Given the description of an element on the screen output the (x, y) to click on. 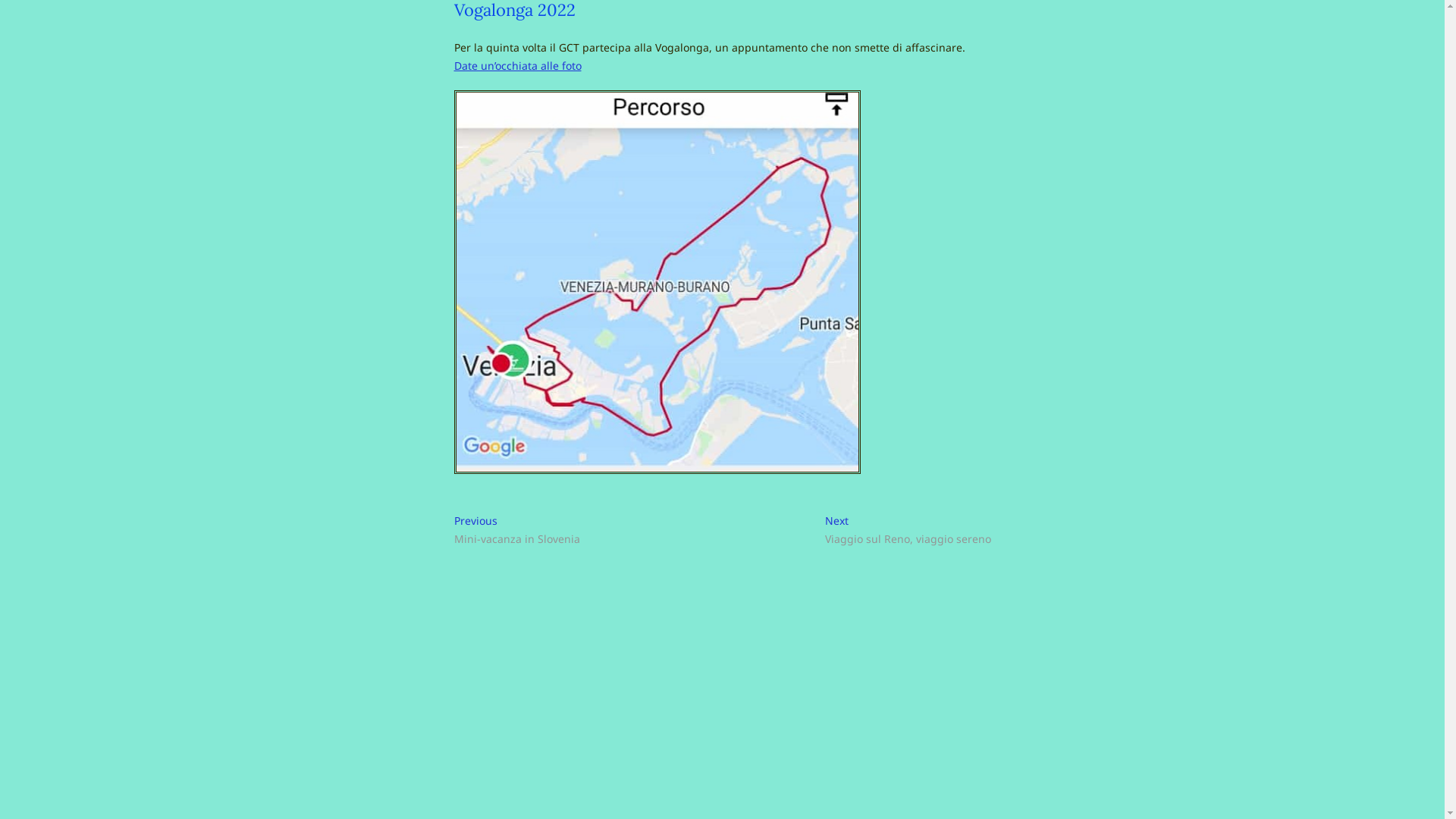
Previous
Mini-vacanza in Slovenia Element type: text (516, 530)
Next
Viaggio sul Reno, viaggio sereno Element type: text (908, 530)
